Given the description of an element on the screen output the (x, y) to click on. 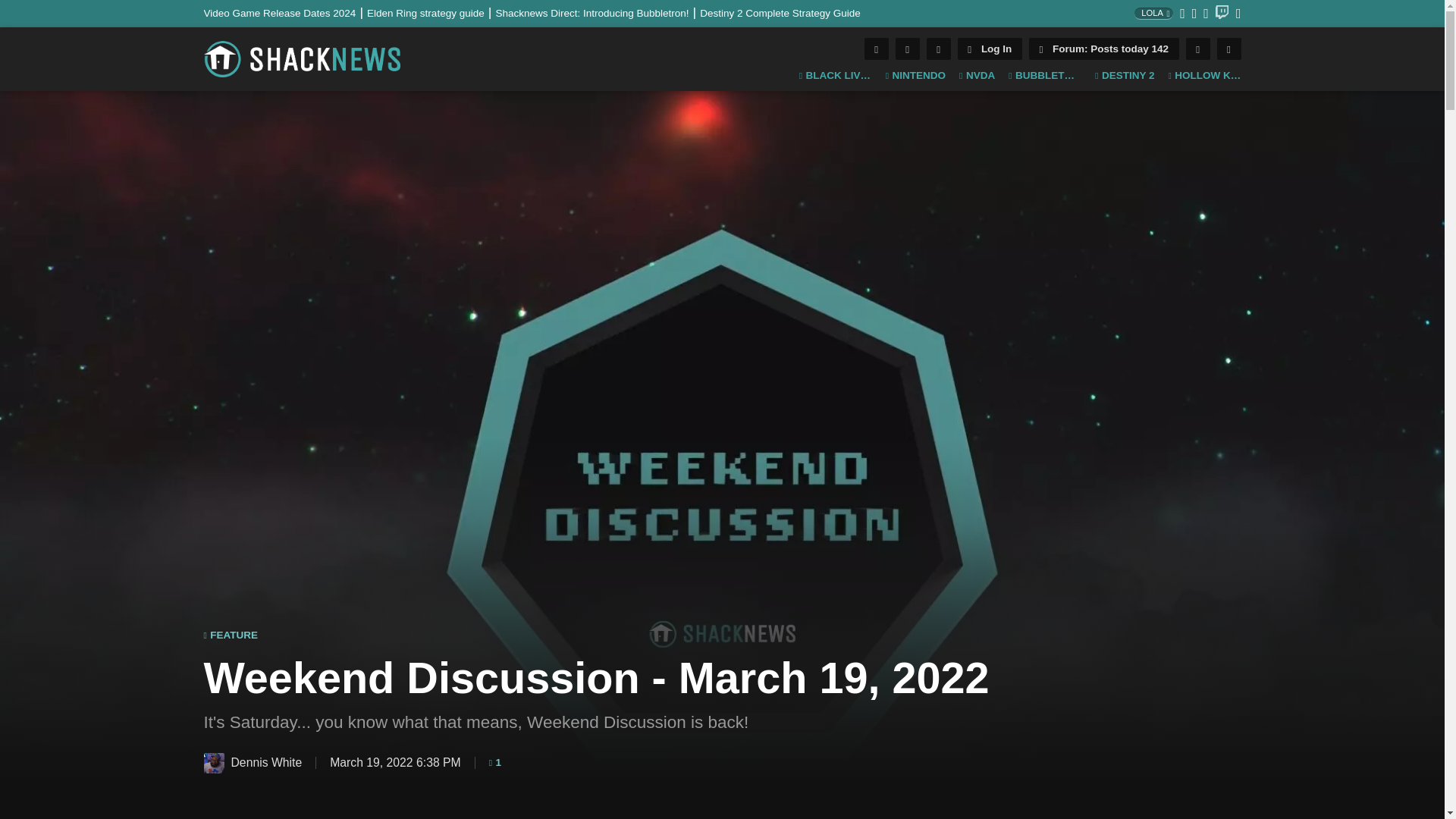
DESTINY 2 (1124, 75)
Destiny 2 Complete Strategy Guide (780, 11)
HOLLOW KNIGHT: SILKSONG (1203, 75)
Elden Ring strategy guide (430, 11)
BLACK LIVES MATTER (835, 75)
NVDA (976, 75)
Dennis White (213, 762)
Shacknews Direct: Introducing Bubbletron! (597, 11)
Video Game Release Dates 2024 (284, 11)
NINTENDO (914, 75)
